Given the description of an element on the screen output the (x, y) to click on. 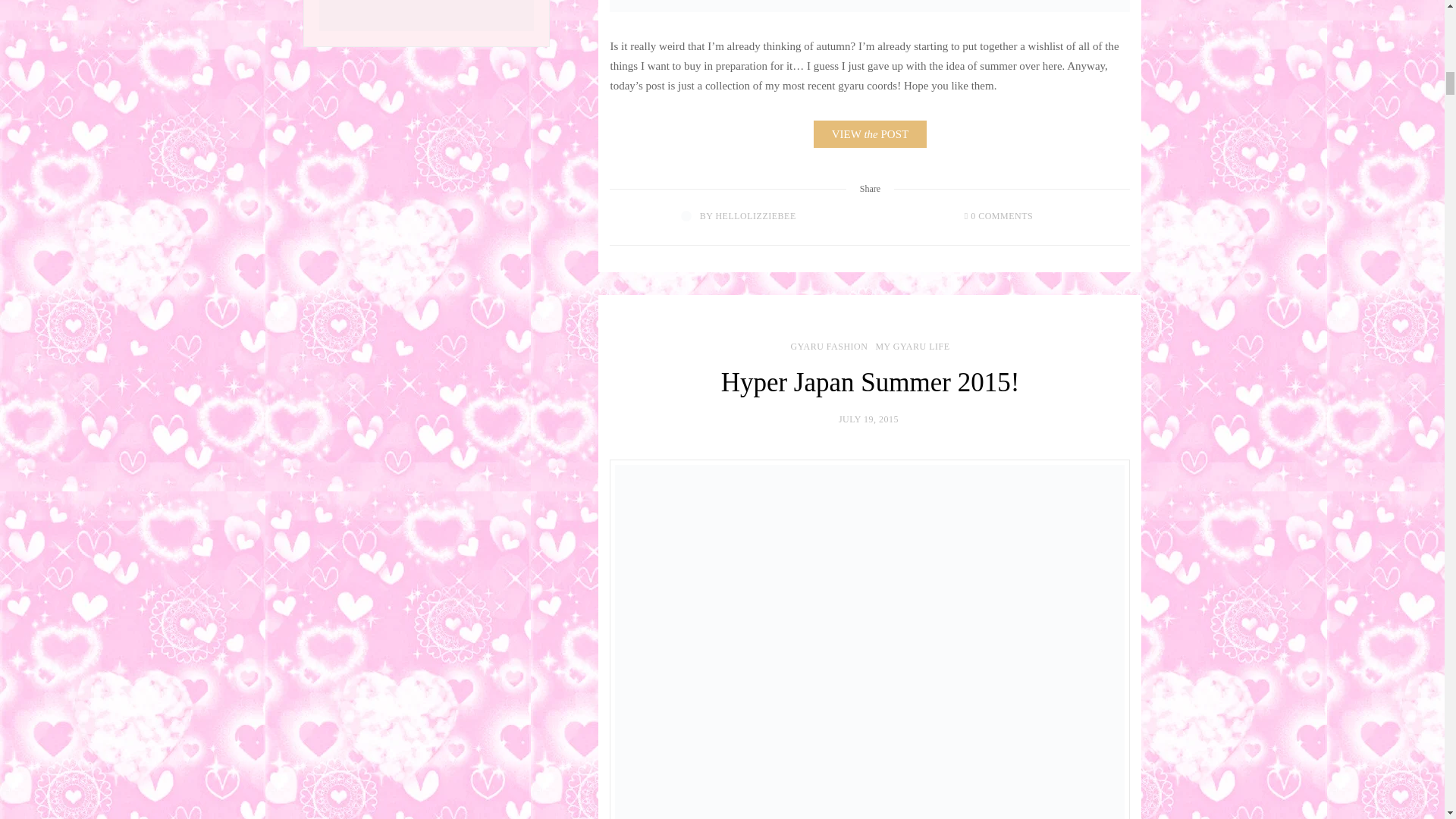
Posts by hellolizziebee (754, 215)
Hyper Japan Summer 2015! (870, 382)
